Given the description of an element on the screen output the (x, y) to click on. 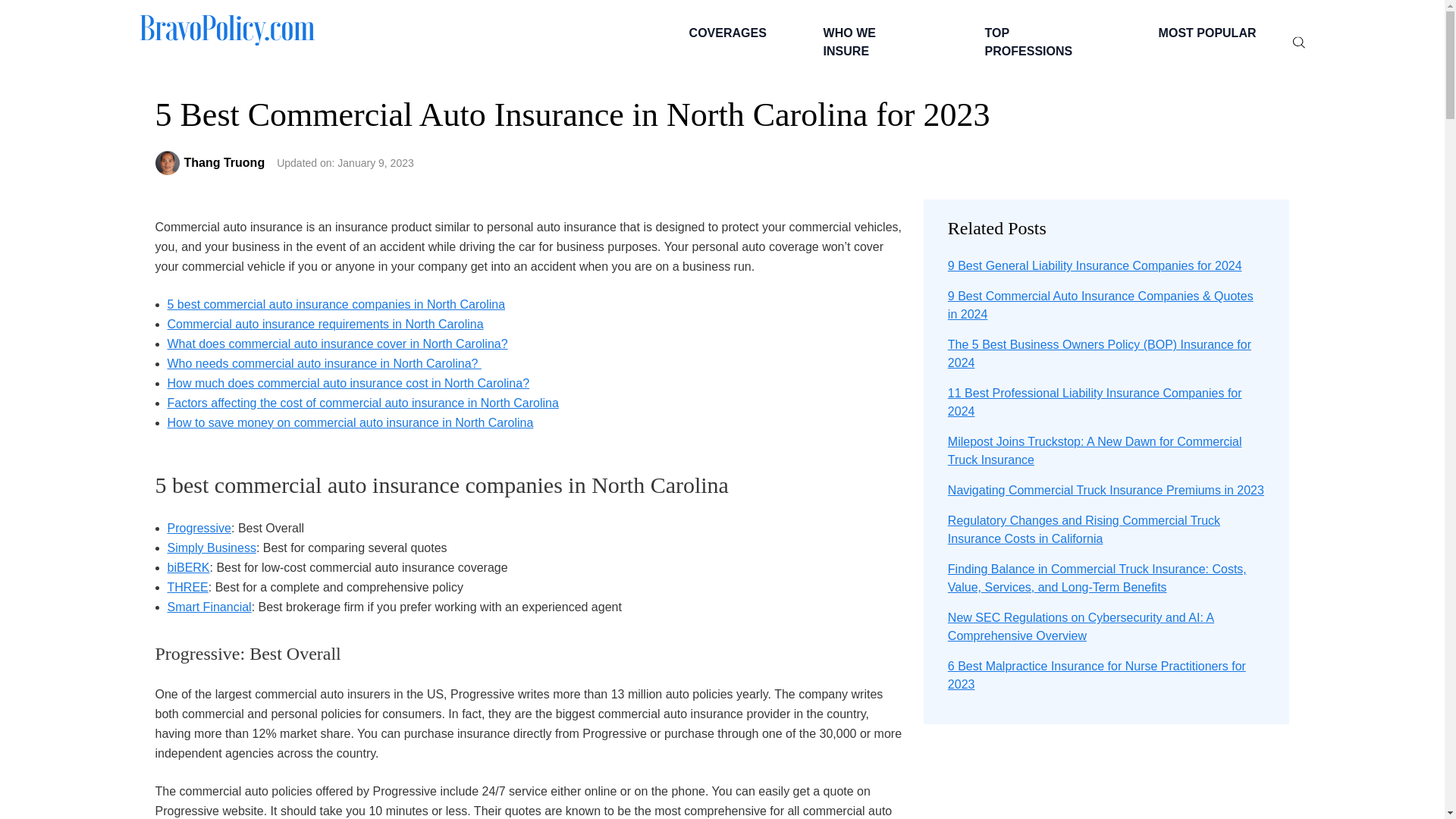
COVERAGES (725, 33)
11 Best Professional Liability Insurance Companies for 2024 (1094, 401)
Navigating Commercial Truck Insurance Premiums in 2023 (1105, 490)
9 Best General Liability Insurance Companies for 2024 (1094, 265)
WHO WE INSURE (873, 42)
